Given the description of an element on the screen output the (x, y) to click on. 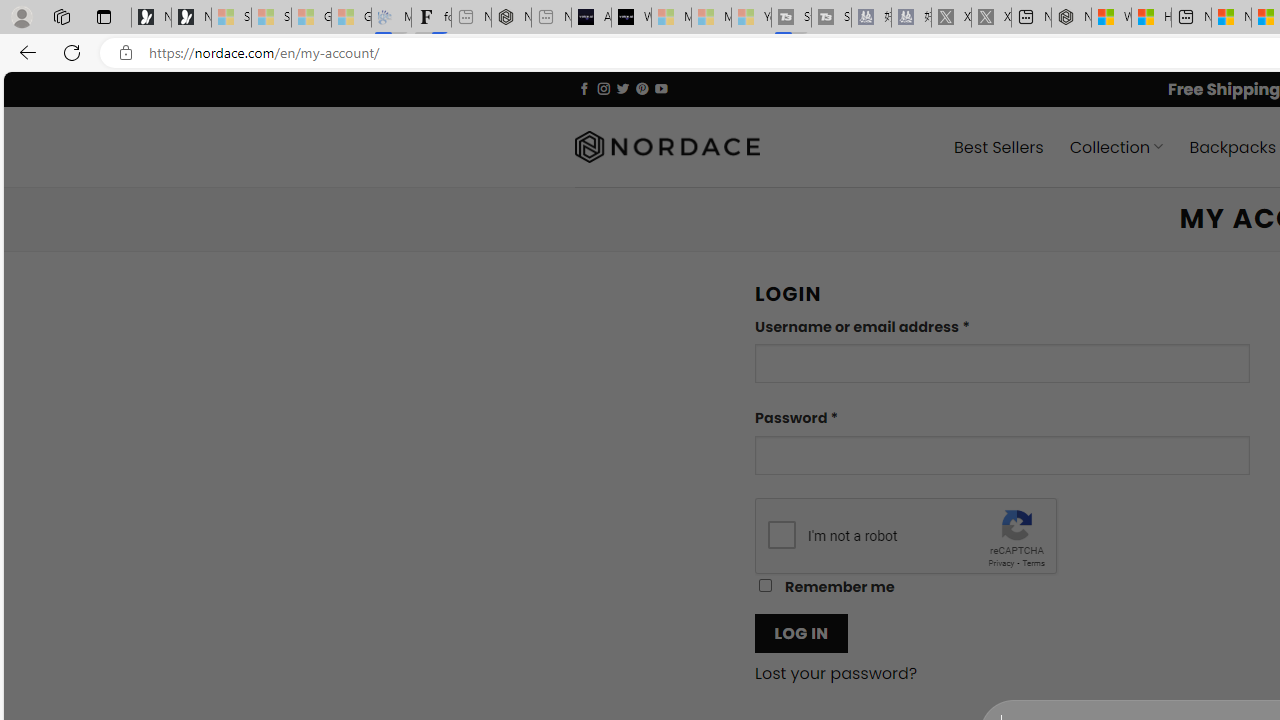
Follow on Facebook (584, 88)
Remember me (765, 585)
Lost your password? (836, 673)
Follow on YouTube (661, 88)
Follow on Twitter (621, 88)
What's the best AI voice generator? - voice.ai (631, 17)
Terms (1033, 562)
  Best Sellers (998, 146)
Newsletter Sign Up (191, 17)
